Given the description of an element on the screen output the (x, y) to click on. 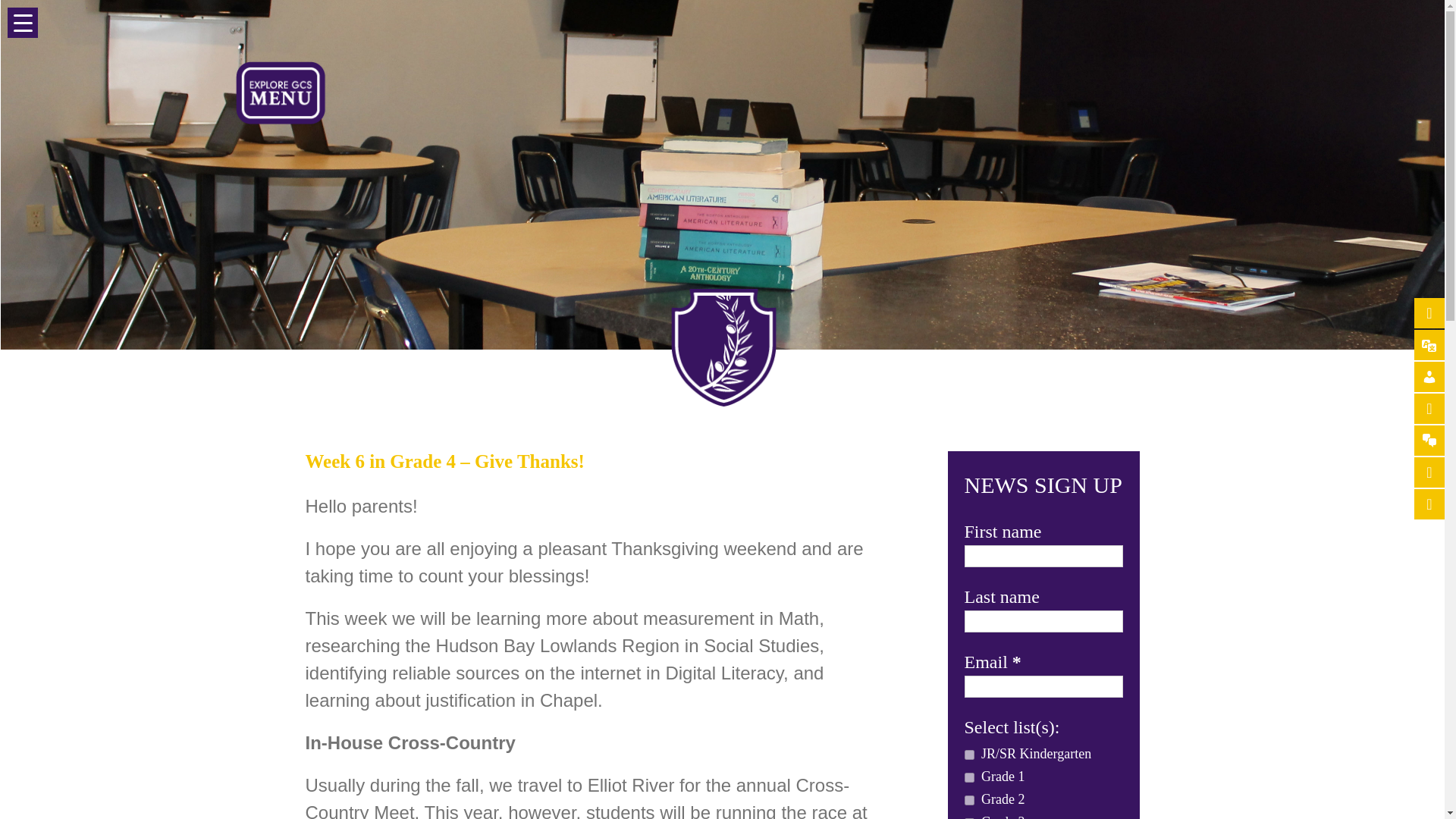
3 (968, 800)
9 (968, 777)
7 (968, 755)
Last name (1042, 621)
Email (1042, 686)
First name (1042, 556)
